Given the description of an element on the screen output the (x, y) to click on. 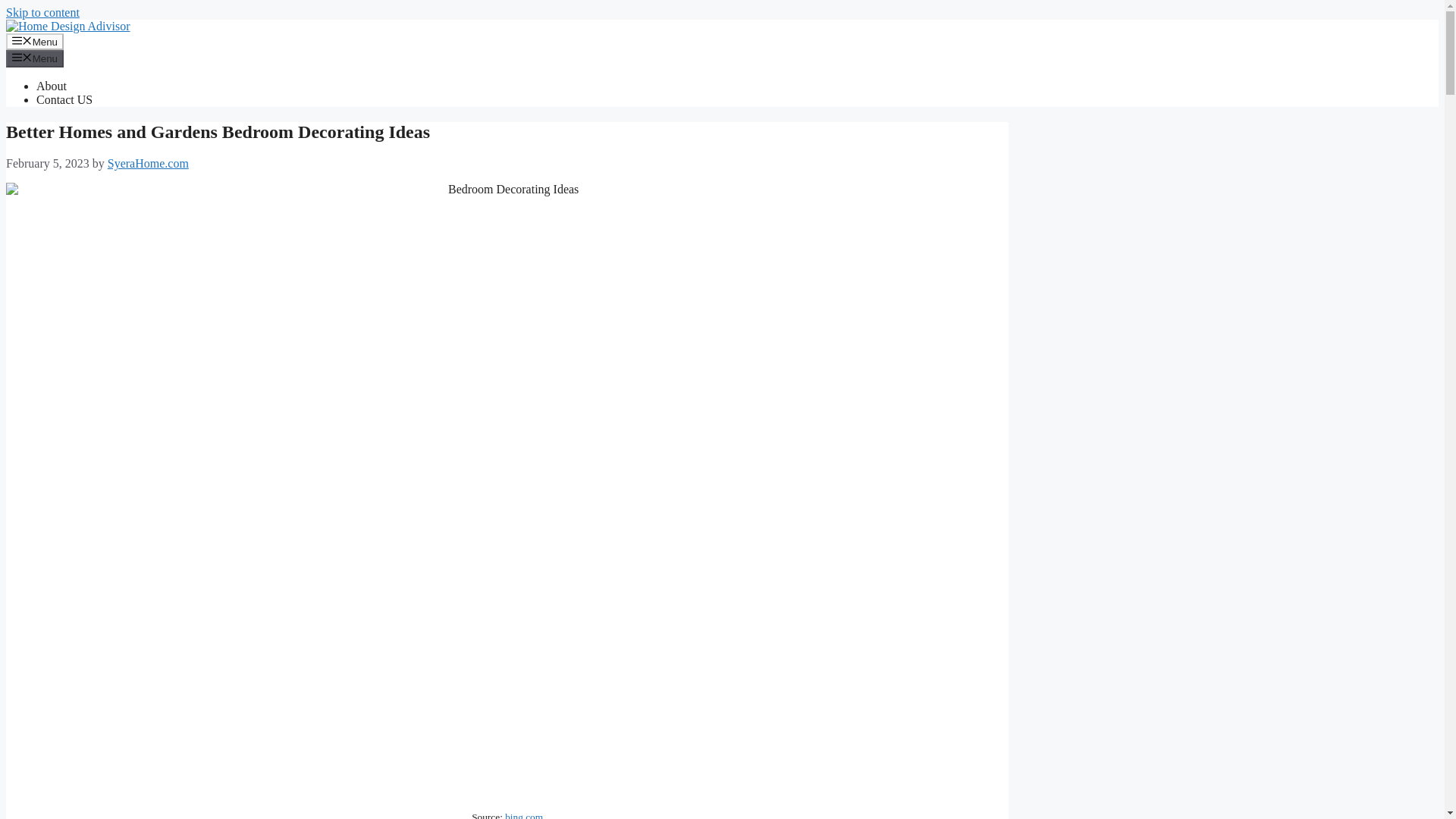
bing.com (524, 815)
Menu (34, 57)
Menu (34, 41)
View all posts by SyeraHome.com (148, 163)
SyeraHome.com (148, 163)
Contact US (64, 99)
About (51, 85)
Skip to content (42, 11)
Skip to content (42, 11)
